Given the description of an element on the screen output the (x, y) to click on. 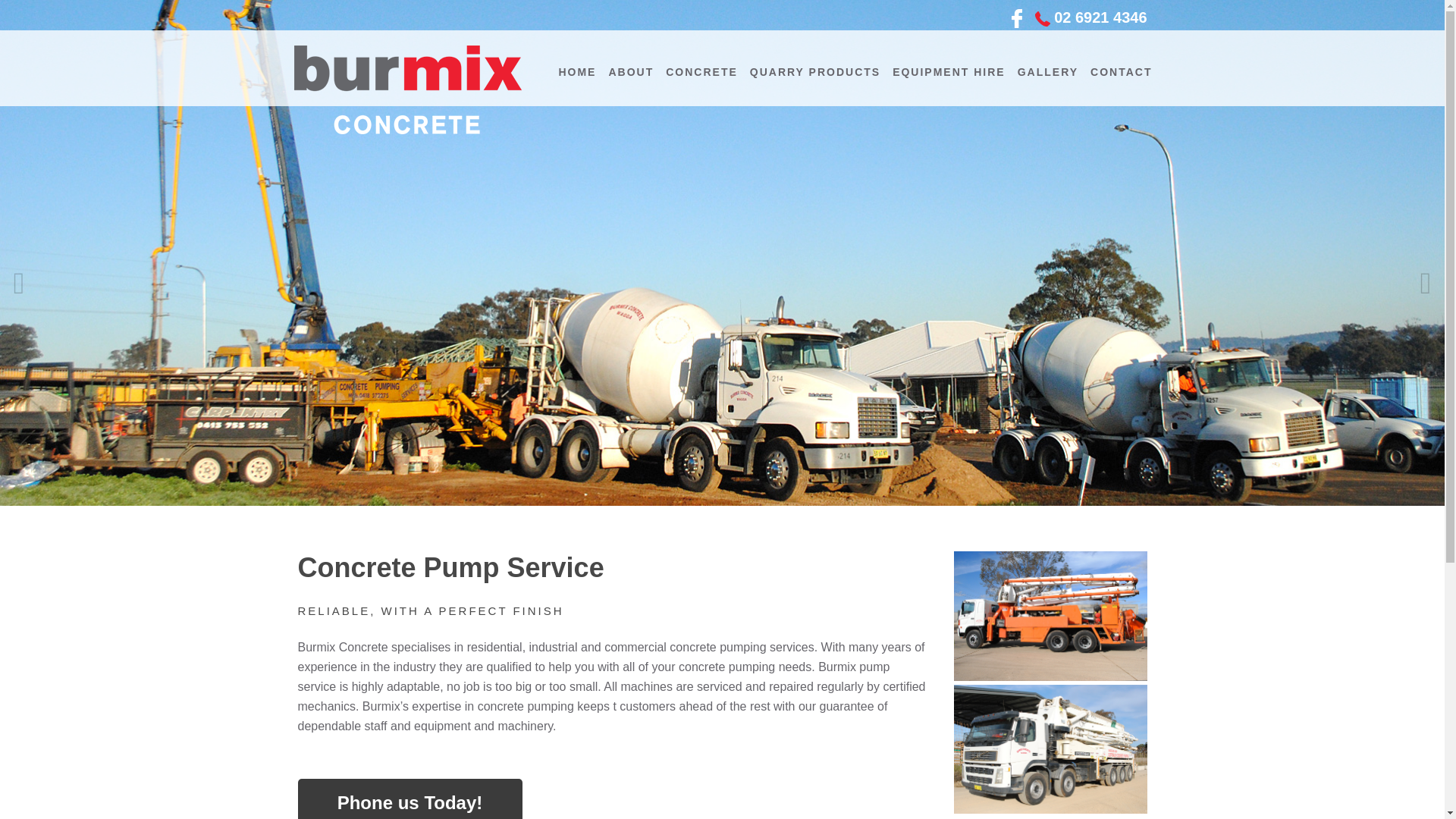
CONCRETE (701, 68)
EQUIPMENT HIRE (948, 68)
GALLERY (1047, 68)
02 6921 4346 (1100, 17)
CONTACT (1120, 68)
QUARRY PRODUCTS (815, 68)
